Given the description of an element on the screen output the (x, y) to click on. 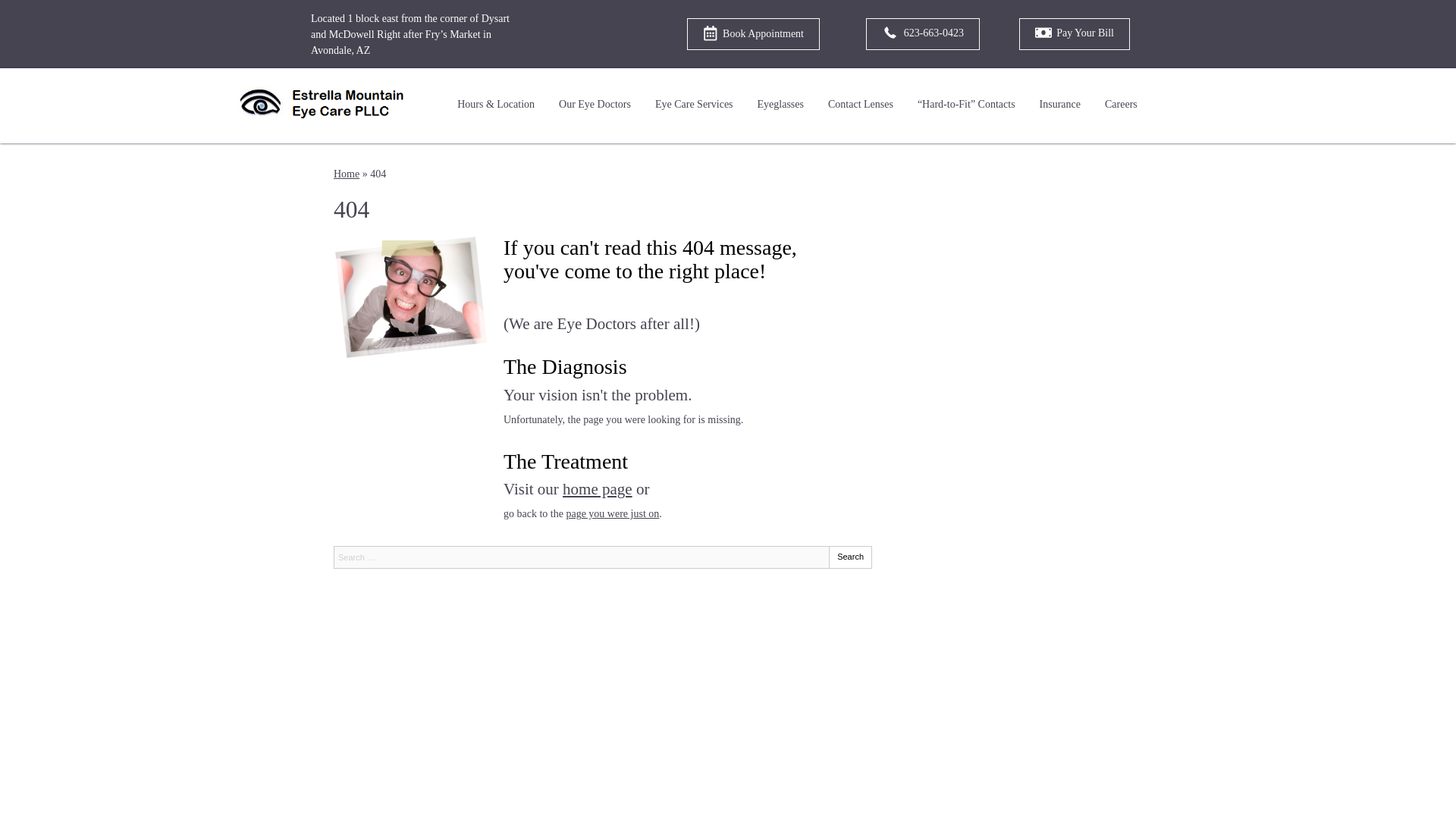
Our Eye Doctors (595, 104)
Search (850, 557)
Eyeglasses (780, 104)
Book Appointment (753, 33)
Careers (1121, 104)
page you were just on (612, 513)
Home (346, 173)
623-663-0423 (922, 33)
home page (596, 488)
Contact Lenses (860, 104)
Pay Your Bill (1074, 33)
Eye Care Services (694, 104)
Insurance (1060, 104)
